Given the description of an element on the screen output the (x, y) to click on. 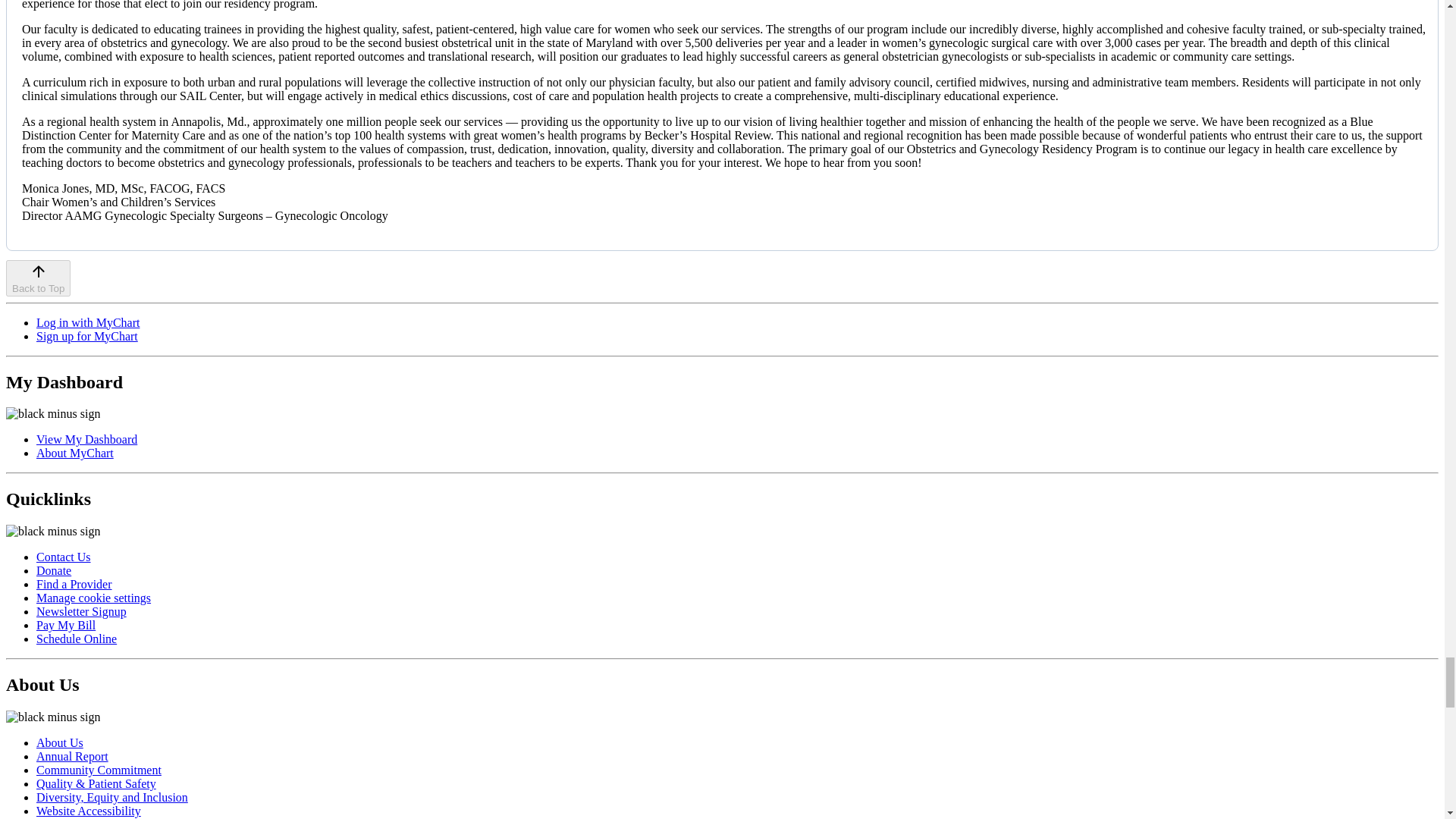
About MyChart Link (74, 452)
Sign Up for MyChart Link (87, 336)
Community Commitment link (98, 769)
My Dashboard Link (86, 439)
Login with MyChart Link (87, 322)
Learn more about Luminis Health (59, 742)
Find Provider Link (74, 584)
Schedule Online Link (76, 638)
Contact Us Link (63, 556)
Facts and Figures about Luminis Health (71, 756)
